Given the description of an element on the screen output the (x, y) to click on. 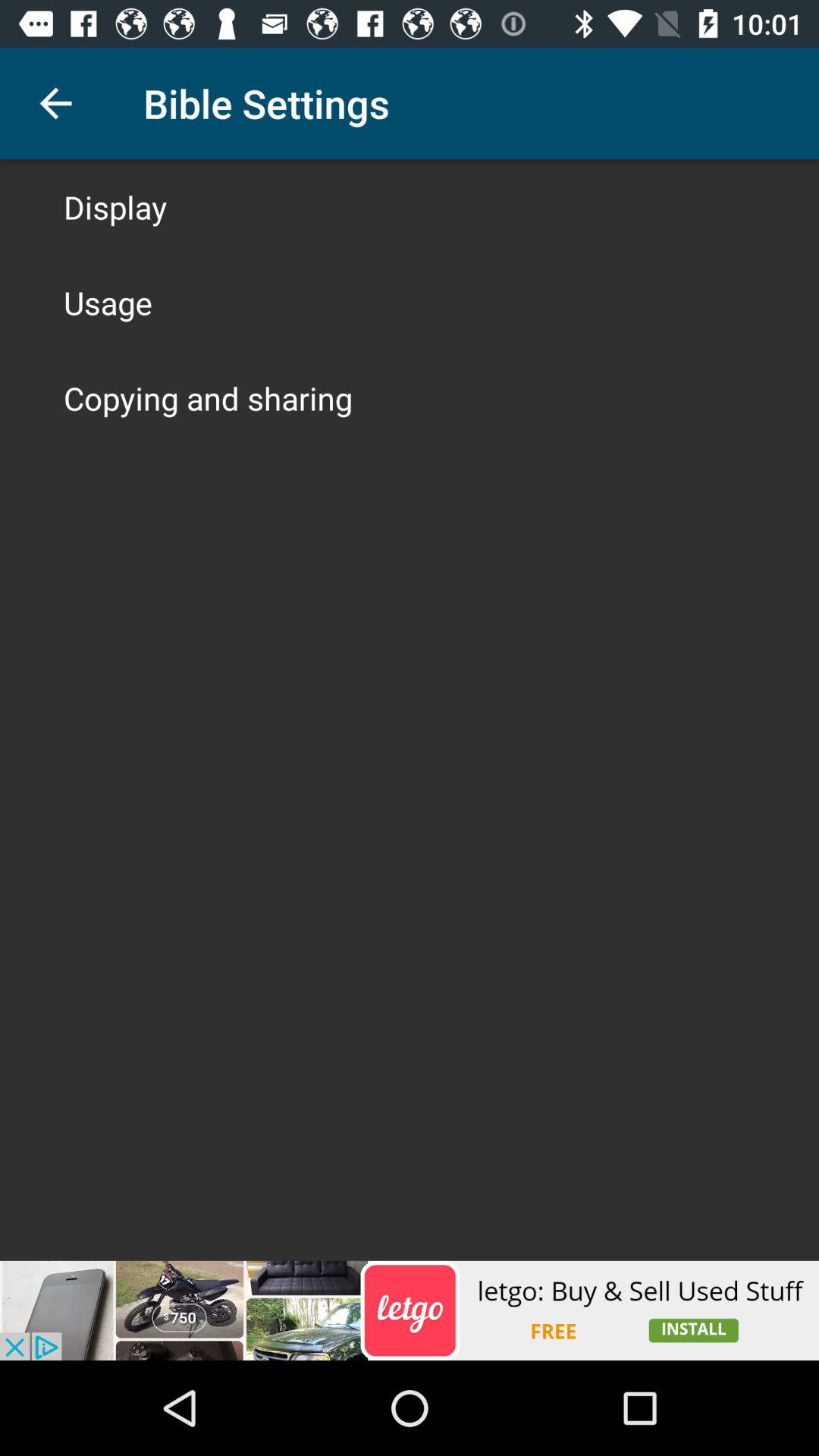
know about the advertisement (409, 1310)
